Given the description of an element on the screen output the (x, y) to click on. 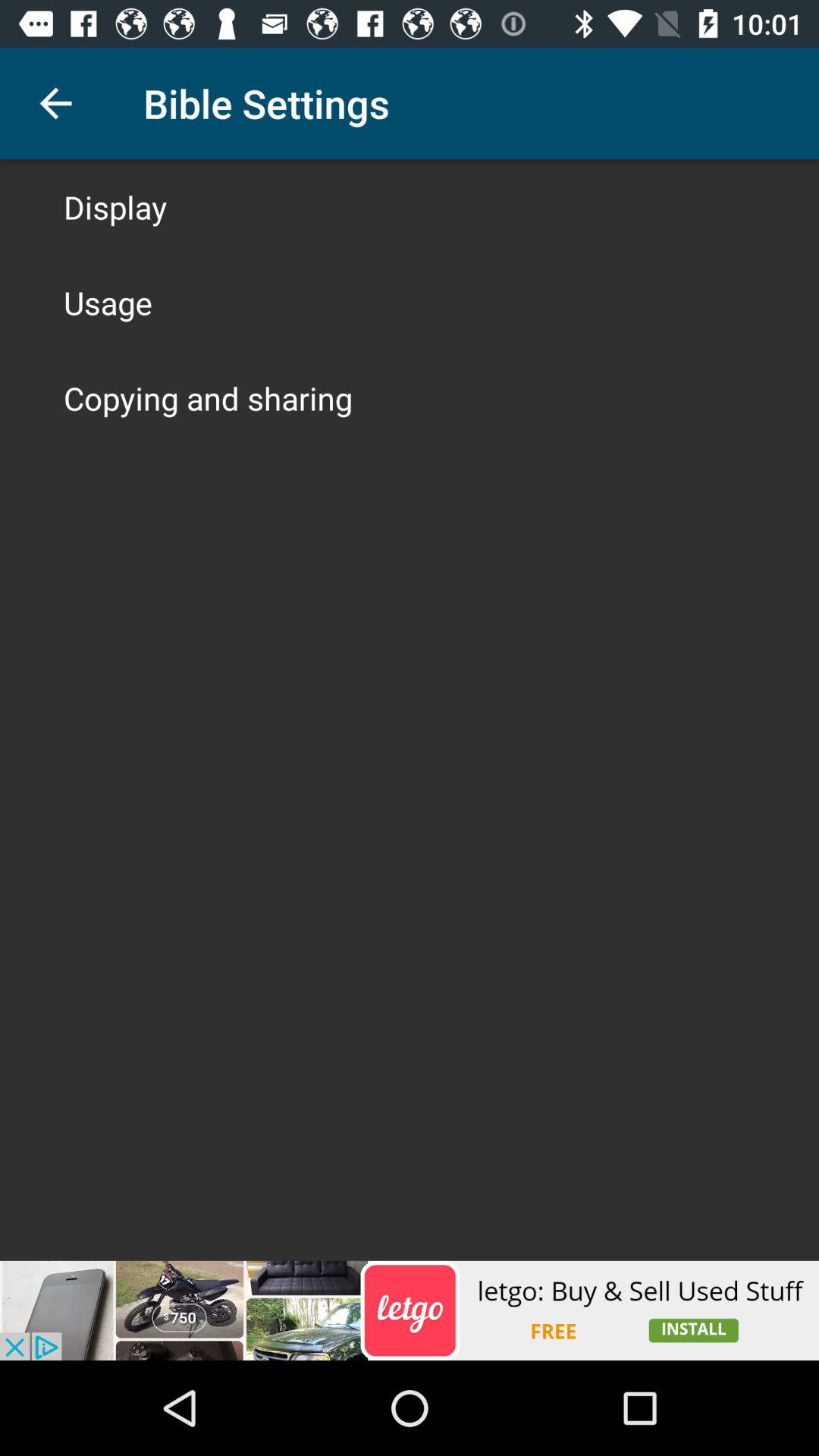
know about the advertisement (409, 1310)
